Given the description of an element on the screen output the (x, y) to click on. 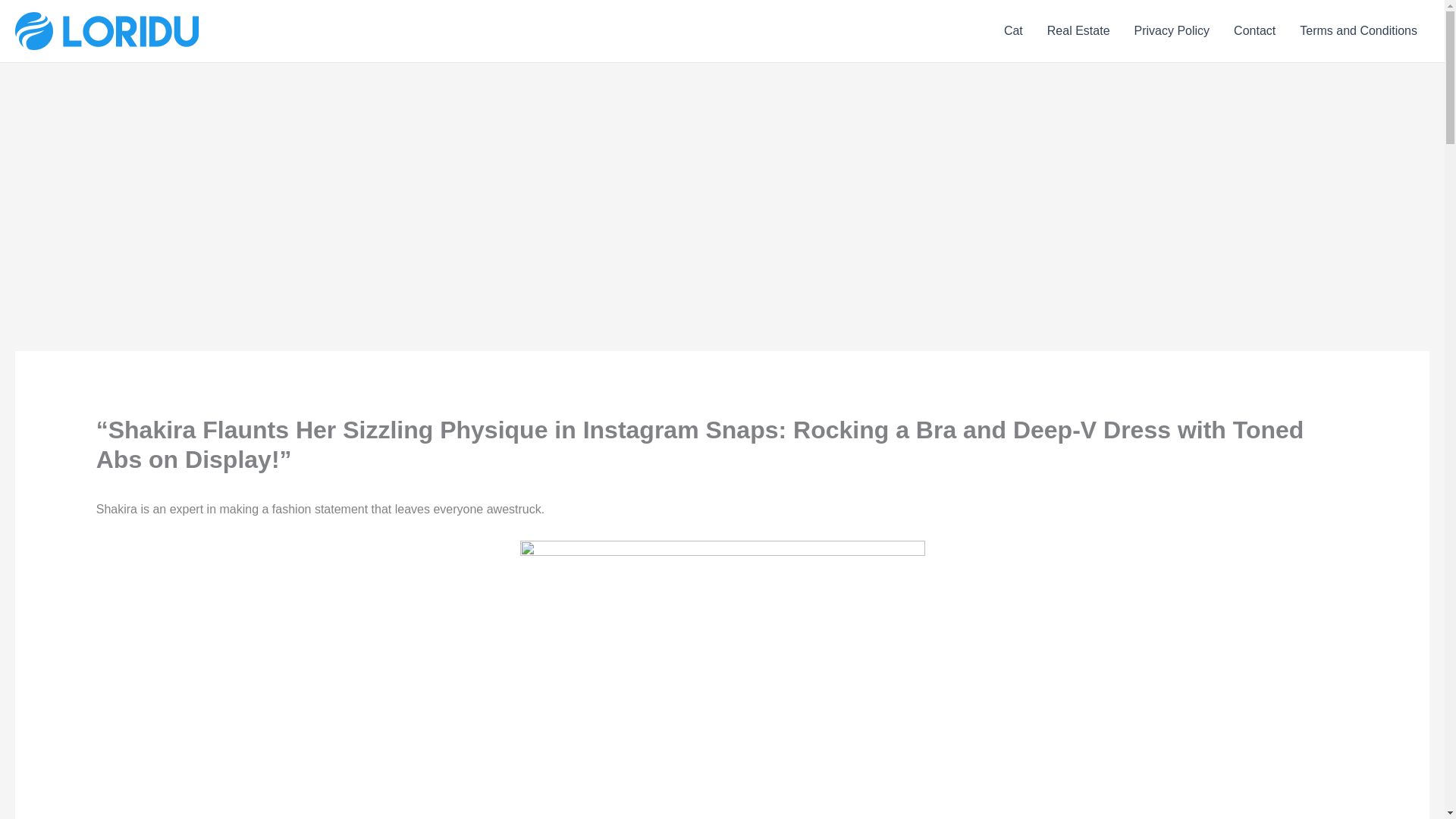
Real Estate (1078, 30)
Terms and Conditions (1358, 30)
Contact (1254, 30)
Privacy Policy (1172, 30)
